Given the description of an element on the screen output the (x, y) to click on. 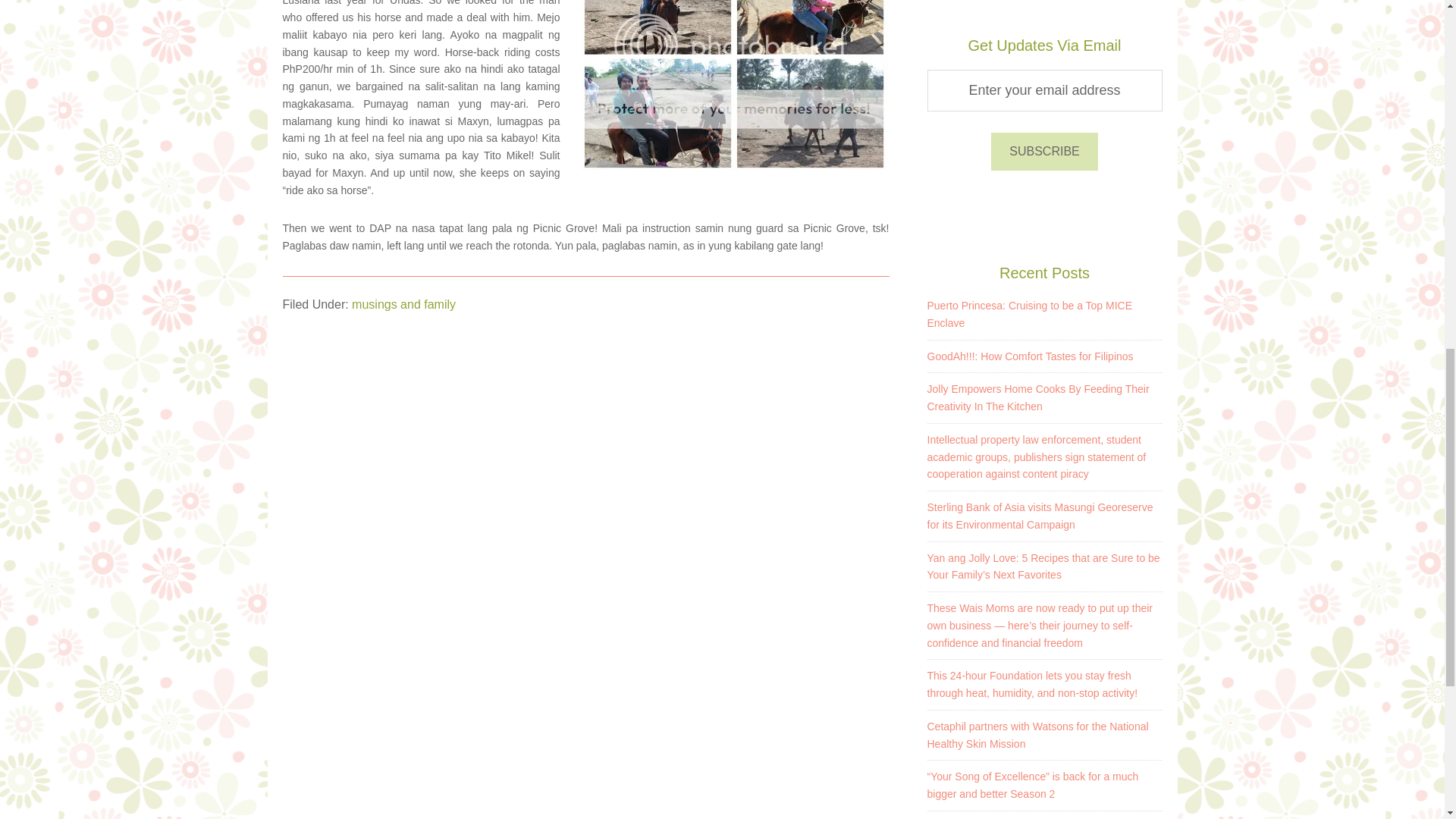
Subscribe (1044, 151)
Subscribe (1044, 151)
Enter your email address (1043, 90)
musings and family (403, 304)
Puerto Princesa: Cruising to be a Top MICE Enclave (1029, 314)
GoodAh!!!: How Comfort Tastes for Filipinos (1029, 356)
